Given the description of an element on the screen output the (x, y) to click on. 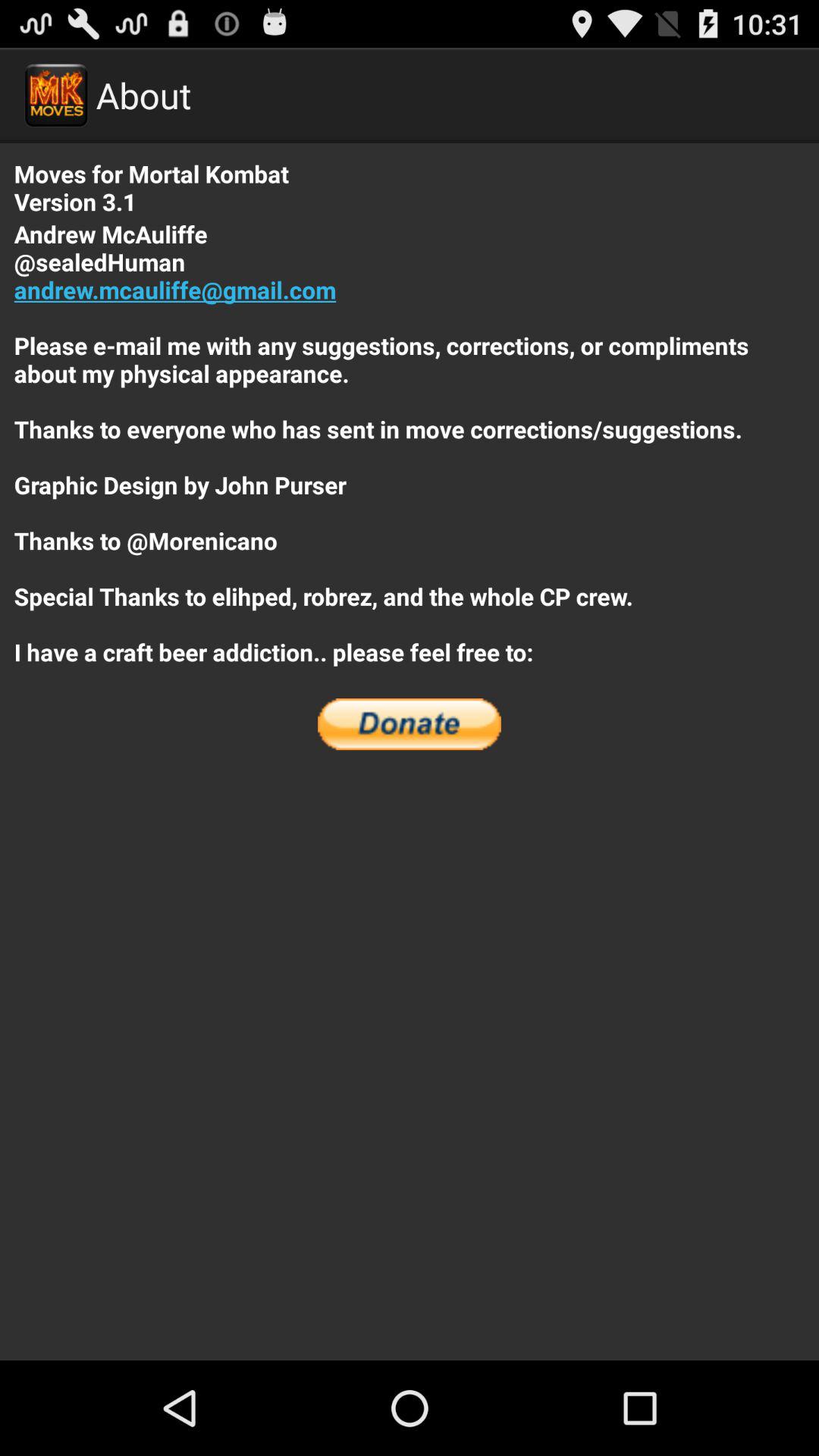
press icon below the andrew mcauliffe sealedhuman item (409, 724)
